Given the description of an element on the screen output the (x, y) to click on. 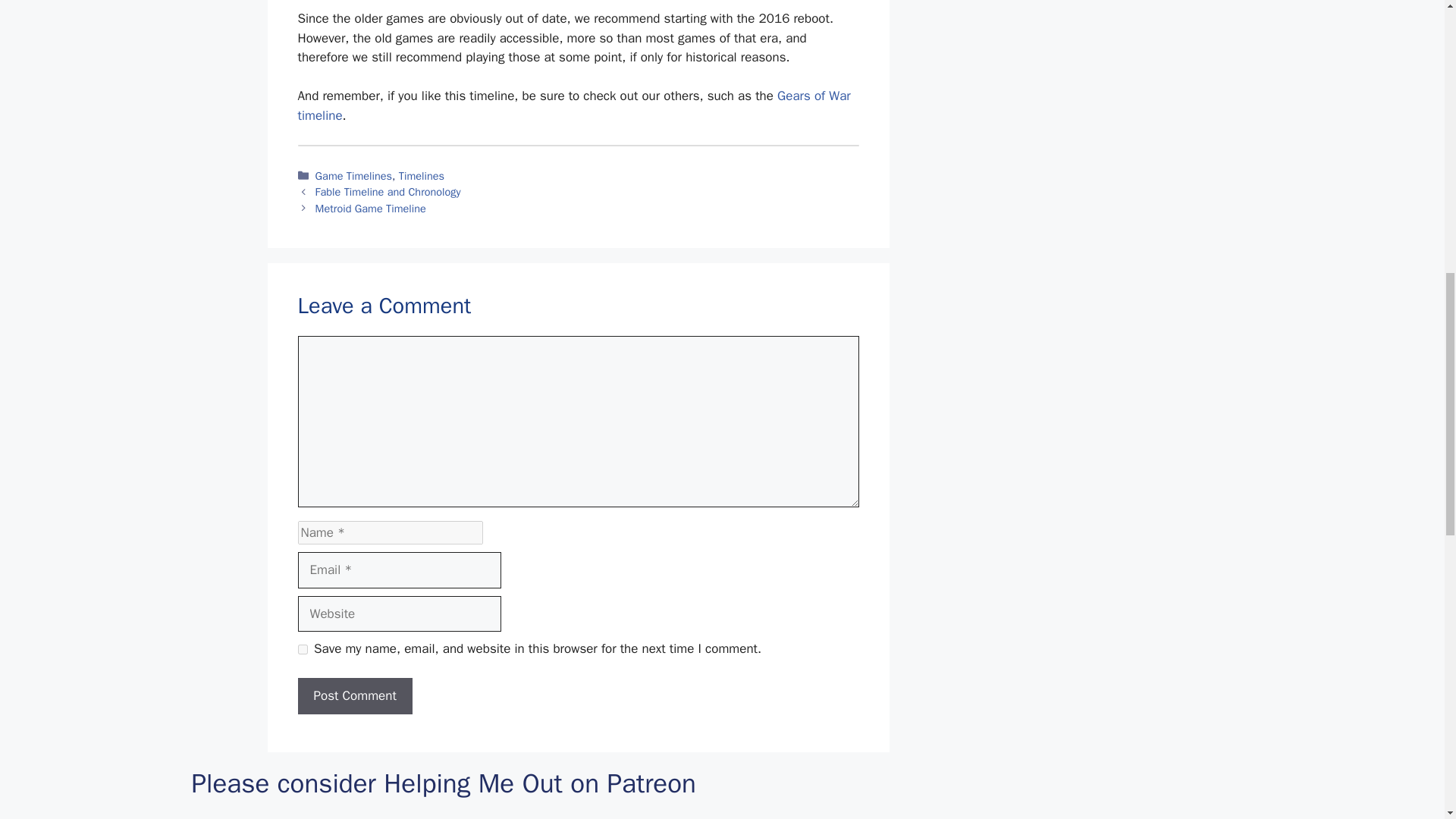
Post Comment (354, 696)
yes (302, 649)
Fable Timeline and Chronology (388, 192)
Metroid Game Timeline (370, 208)
Gears of War timeline (573, 105)
Game Timelines (354, 175)
Post Comment (354, 696)
Timelines (421, 175)
